Given the description of an element on the screen output the (x, y) to click on. 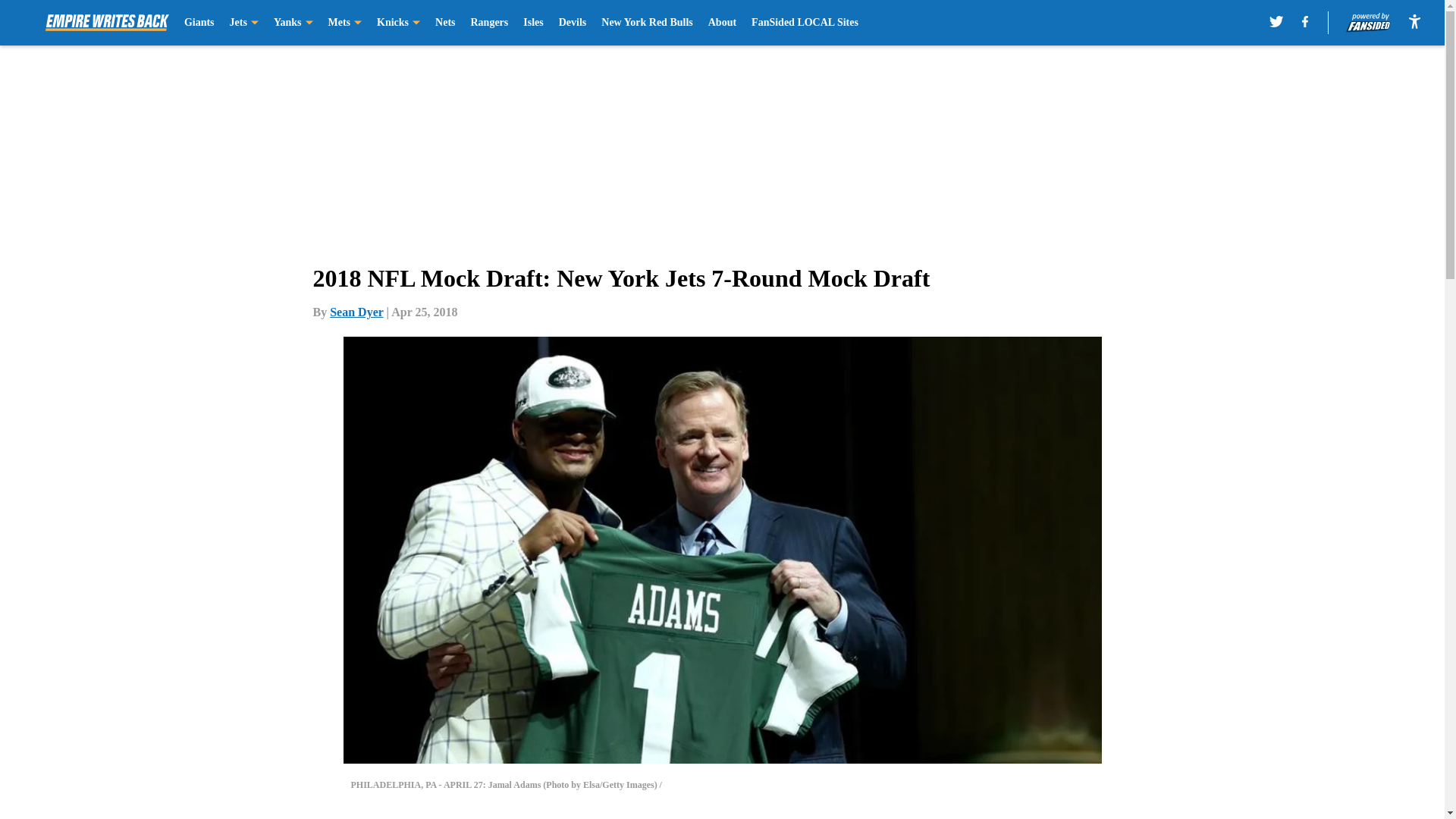
Nets (444, 22)
FanSided LOCAL Sites (805, 22)
Sean Dyer (356, 311)
Devils (572, 22)
Isles (532, 22)
New York Red Bulls (647, 22)
About (721, 22)
Rangers (489, 22)
Giants (199, 22)
